Given the description of an element on the screen output the (x, y) to click on. 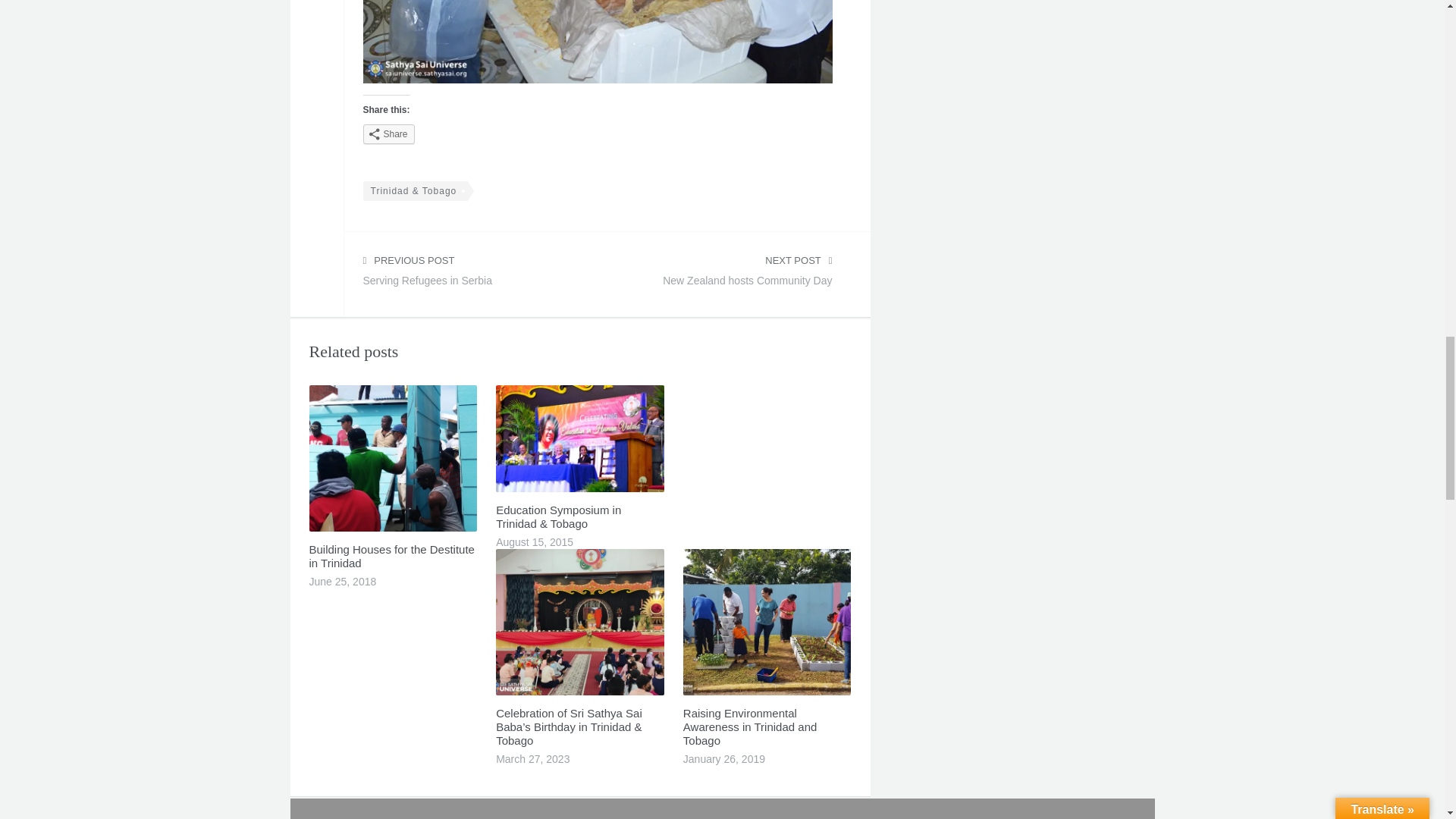
Share (470, 273)
Building Houses for the Destitute in Trinidad (387, 134)
